Given the description of an element on the screen output the (x, y) to click on. 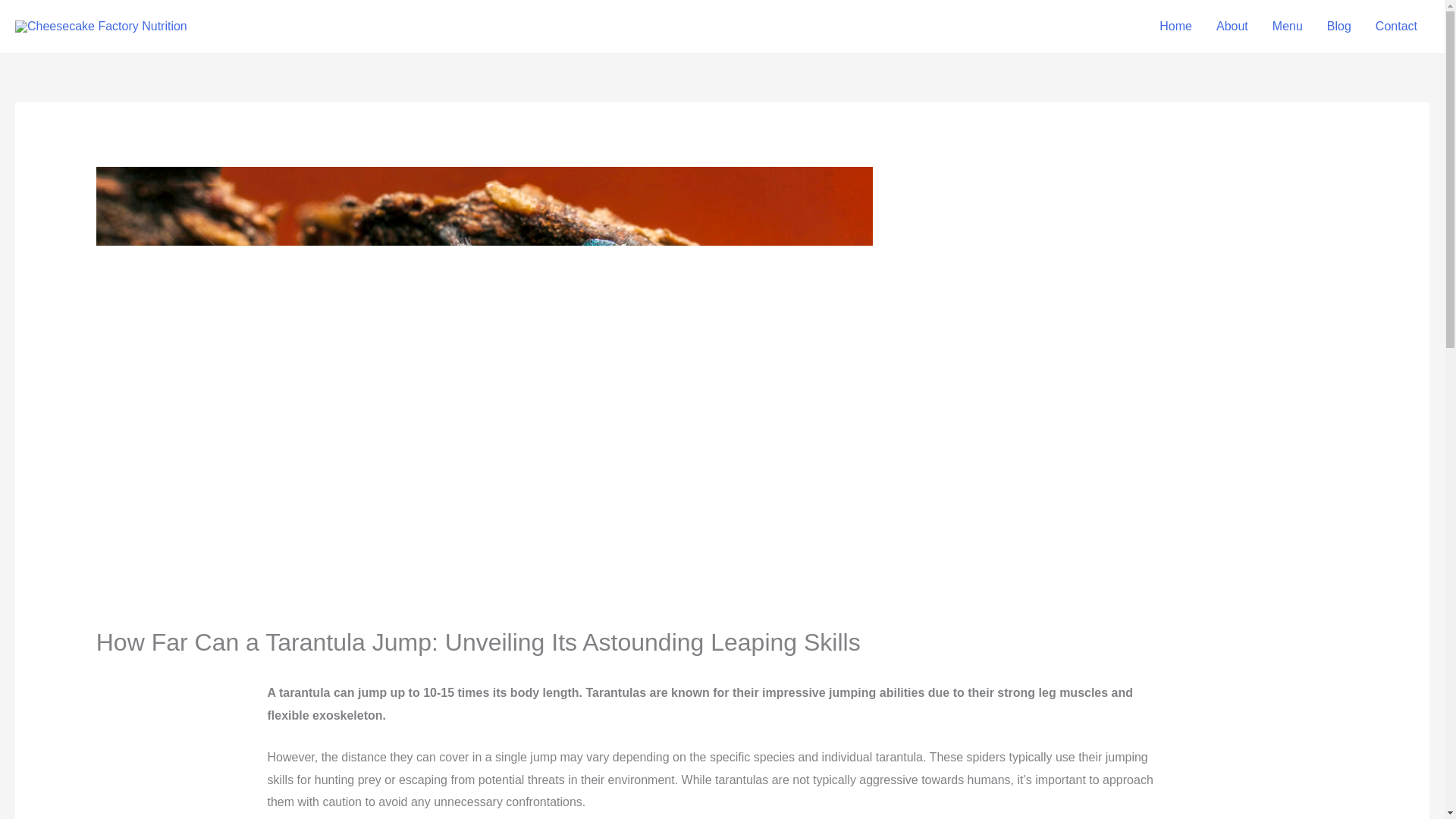
About (1232, 26)
Home (1175, 26)
Menu (1287, 26)
Blog (1338, 26)
Contact (1395, 26)
